Given the description of an element on the screen output the (x, y) to click on. 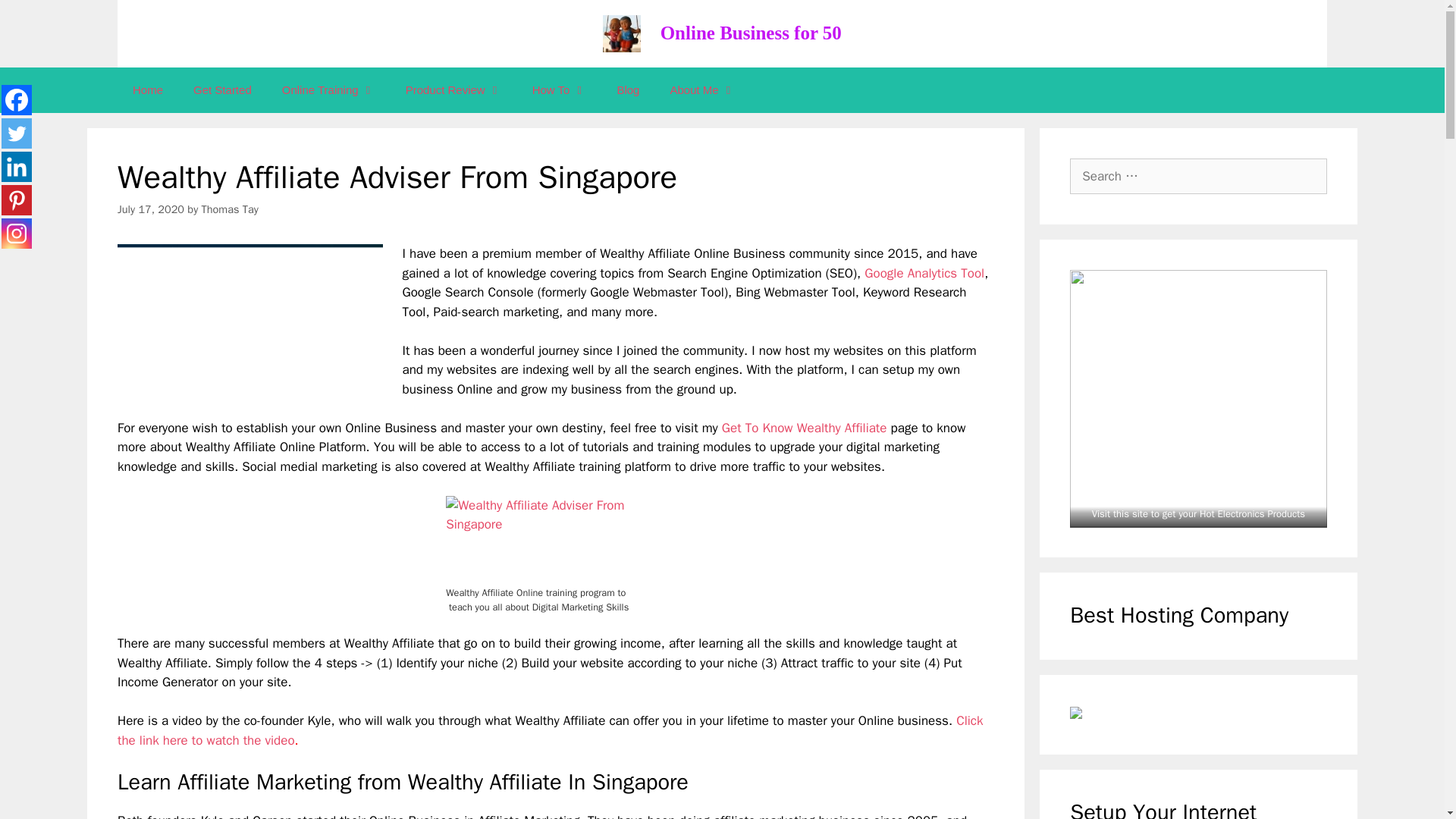
Product Review (453, 90)
Pinterest (16, 200)
Get Started (221, 90)
Online Business for 50 (751, 32)
Linkedin (16, 166)
Facebook (16, 100)
Twitter (16, 132)
View all posts by Thomas Tay (230, 209)
Online Training (328, 90)
Home (147, 90)
